Given the description of an element on the screen output the (x, y) to click on. 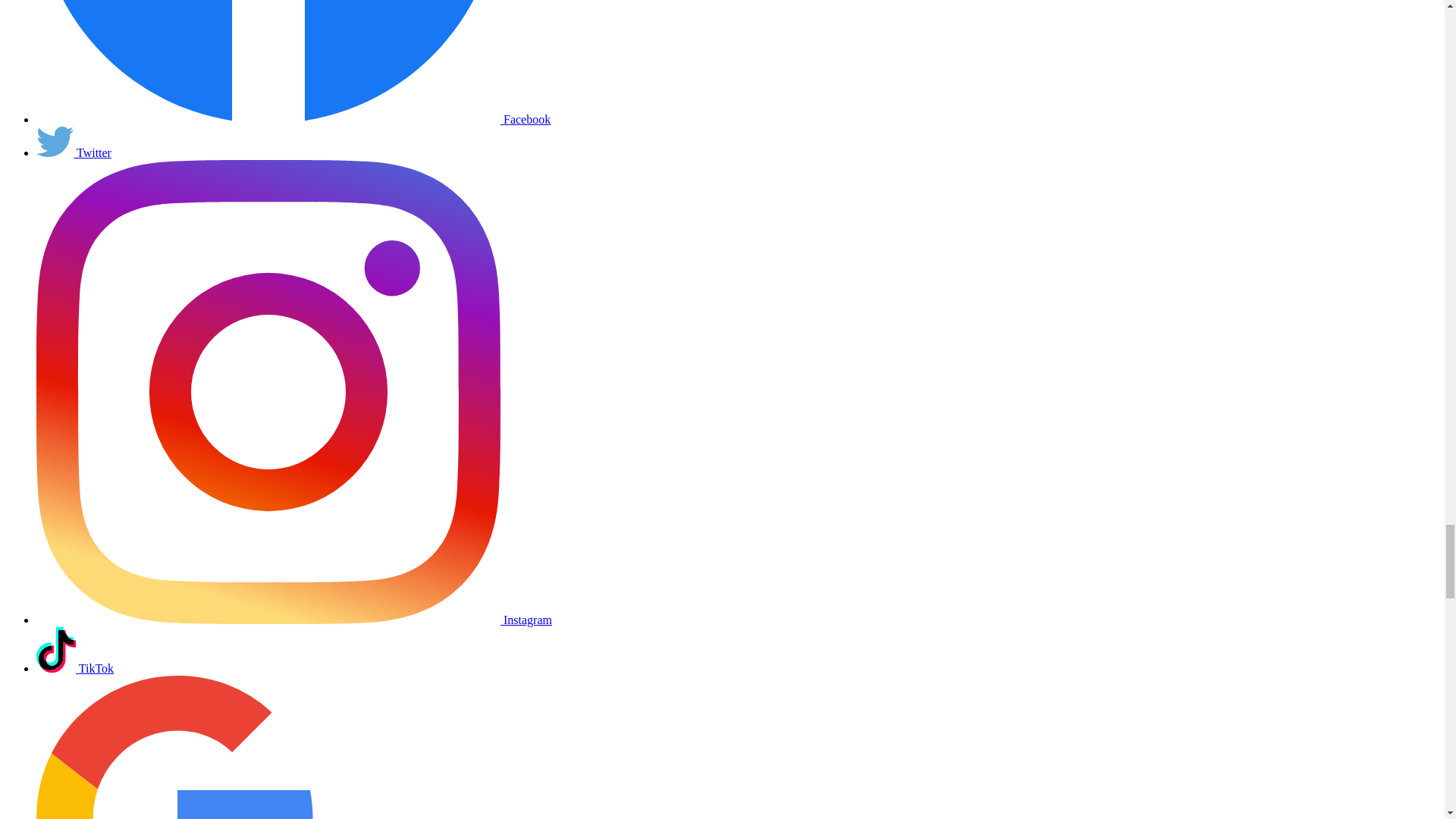
Facebook (268, 61)
Twitter (74, 152)
Twitter (55, 141)
Facebook (293, 119)
